Given the description of an element on the screen output the (x, y) to click on. 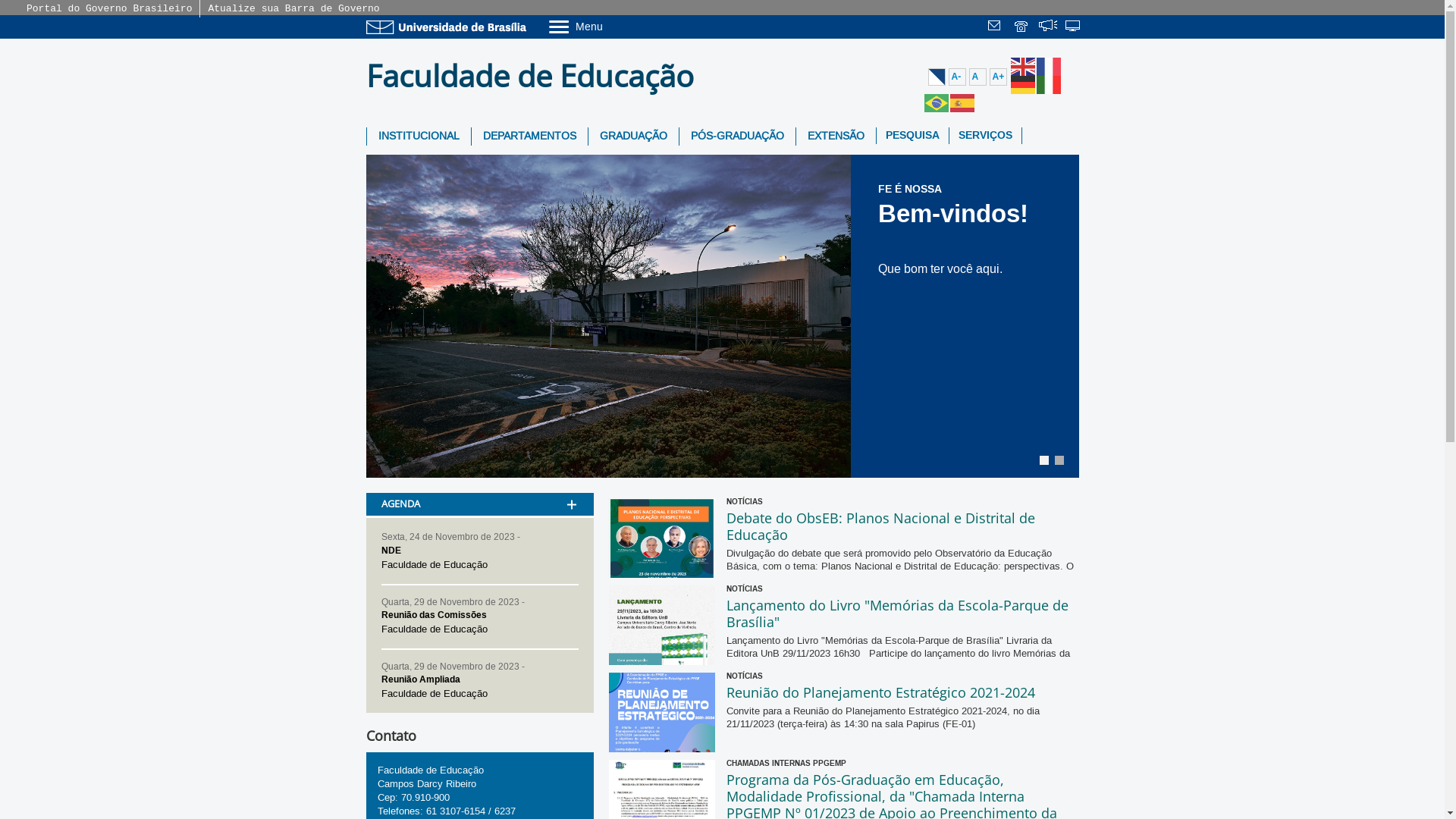
Portal do Governo Brasileiro Element type: text (108, 8)
PESQUISA Element type: text (912, 135)
English Element type: hover (1022, 65)
A Element type: text (977, 76)
NDE Element type: text (390, 550)
  Element type: text (996, 27)
Atualize sua Barra de Governo Element type: text (293, 8)
  Element type: text (1047, 27)
Fala.BR Element type: hover (1047, 27)
Ir para o Portal da UnB Element type: hover (448, 26)
  Element type: text (1073, 27)
  Element type: text (1022, 27)
Italiano Element type: hover (1048, 84)
Menu Element type: text (613, 25)
Sistemas Element type: hover (1073, 27)
Deutsch Element type: hover (1022, 84)
A- Element type: text (956, 76)
Bem-vindos! Element type: text (953, 213)
Bem-vindos! Element type: hover (721, 316)
+ Element type: text (570, 484)
Webmail Element type: hover (996, 27)
A+ Element type: text (997, 76)
Telefones da UnB Element type: hover (1022, 27)
